Given the description of an element on the screen output the (x, y) to click on. 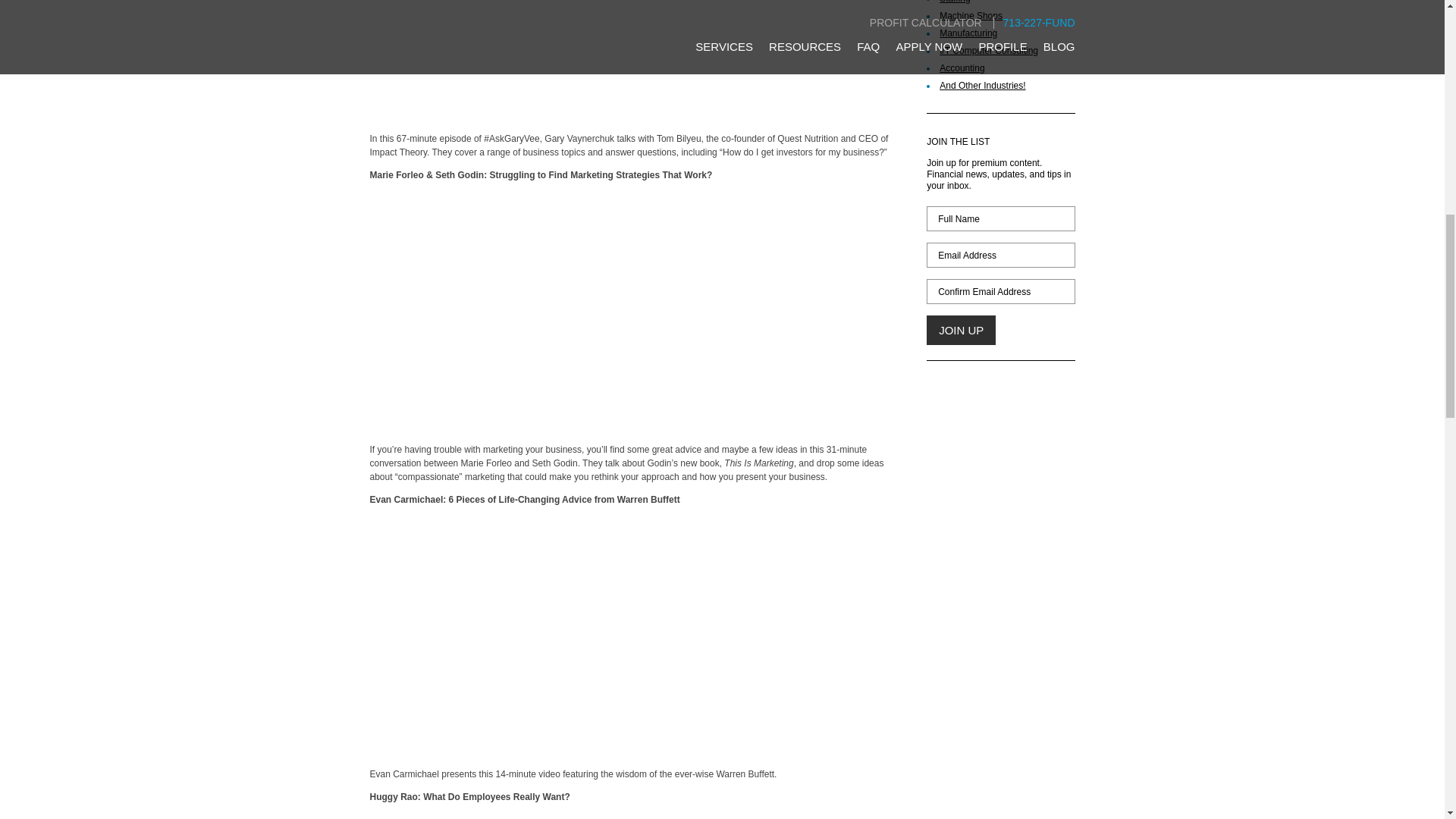
Email Address (1000, 254)
Full Name (1000, 218)
Confirm Email Address (1000, 291)
Join Up (960, 329)
